Given the description of an element on the screen output the (x, y) to click on. 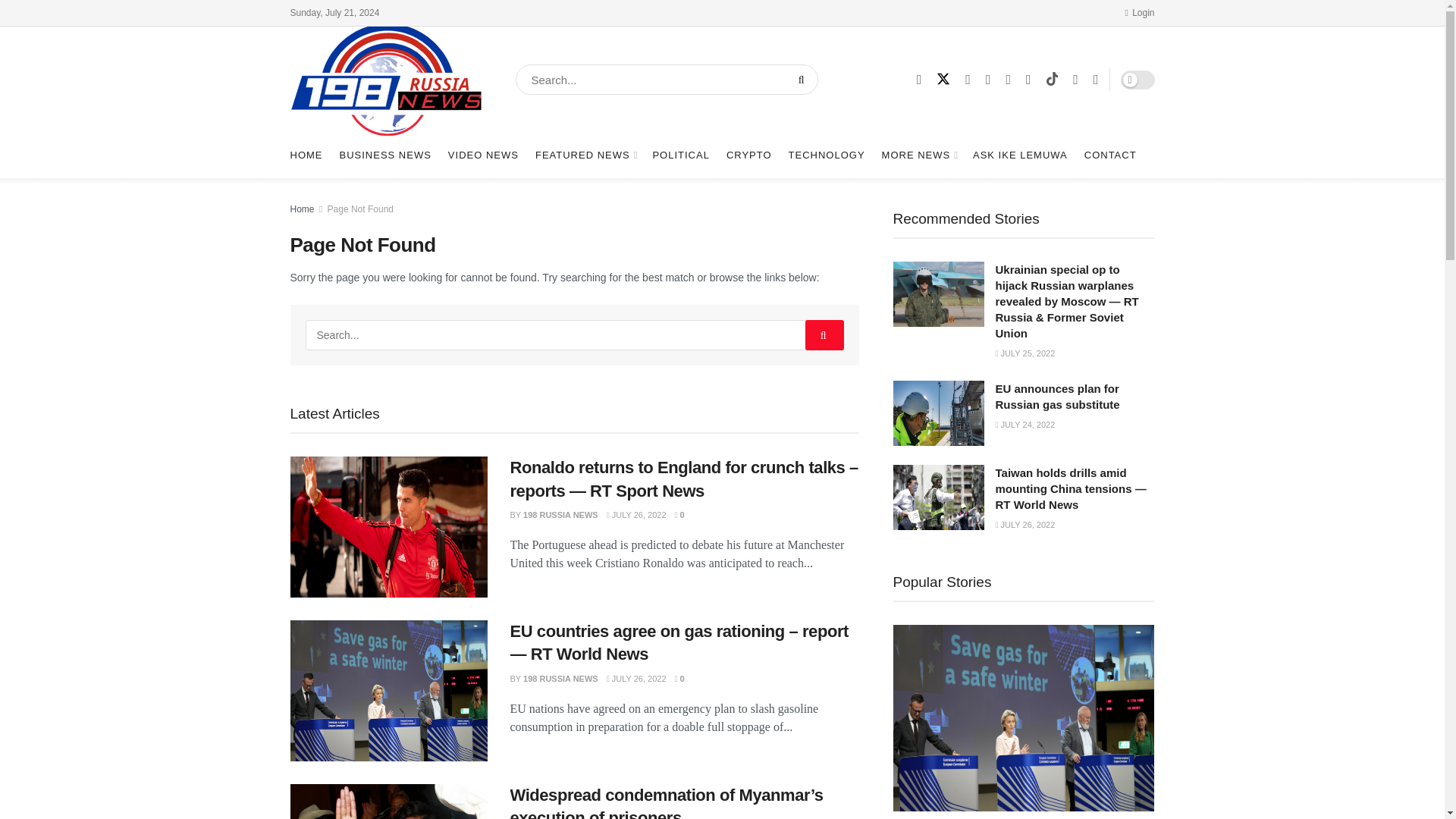
CRYPTO (748, 155)
FEATURED NEWS (584, 155)
MORE NEWS (919, 155)
VIDEO NEWS (483, 155)
EU announces plan for Russian gas substitute (938, 412)
POLITICAL (680, 155)
Login (1139, 12)
BUSINESS NEWS (384, 155)
TECHNOLOGY (826, 155)
